Given the description of an element on the screen output the (x, y) to click on. 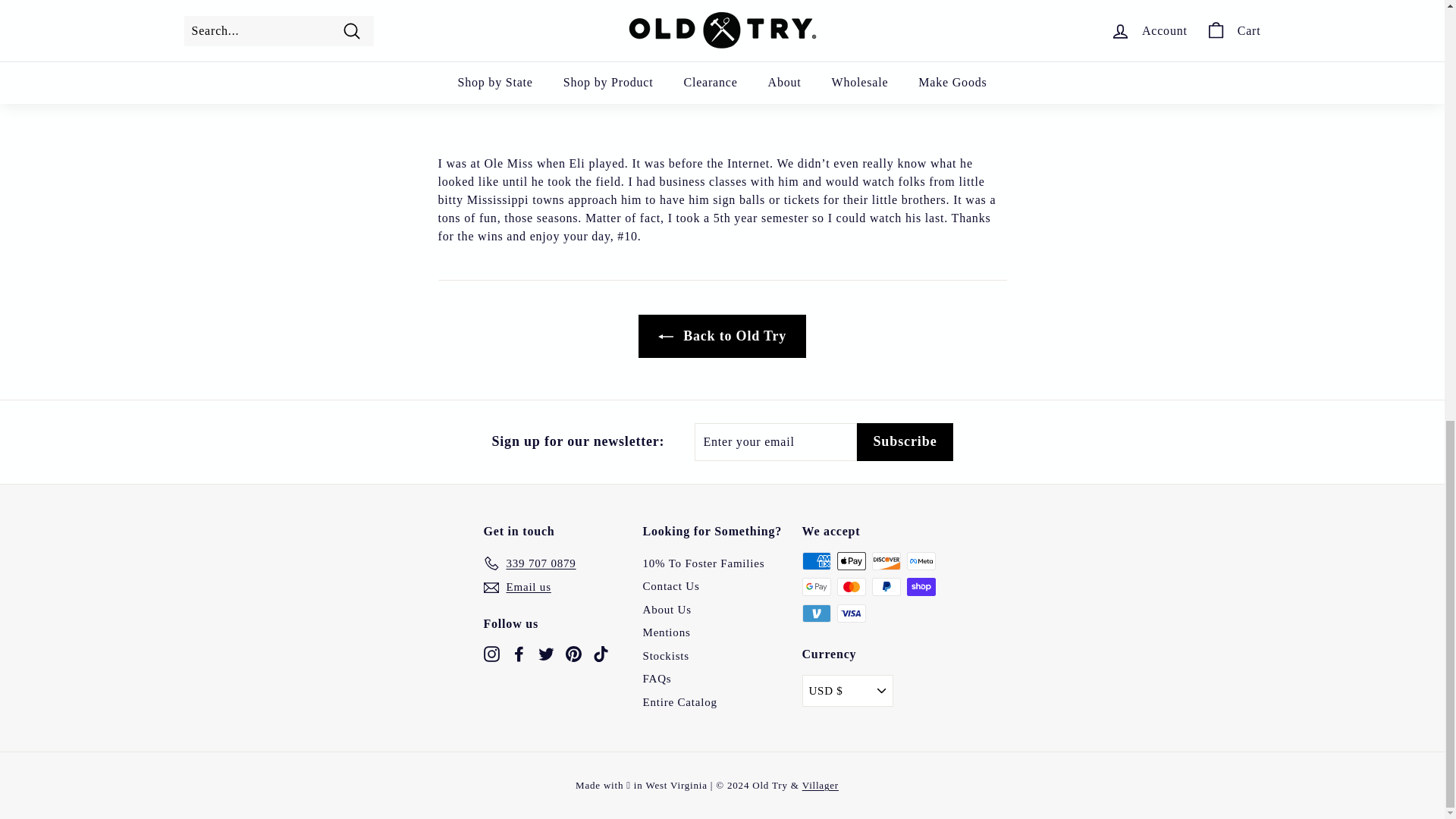
Old Try on Pinterest (573, 652)
American Express (816, 561)
Meta Pay (921, 561)
Mastercard (851, 587)
Discover (886, 561)
Old Try on Twitter (546, 652)
Google Pay (816, 587)
Old Try on TikTok (600, 652)
Apple Pay (851, 561)
Old Try on Instagram (491, 652)
Old Try on Facebook (519, 652)
PayPal (886, 587)
Shop Pay (921, 587)
Venmo (816, 613)
